Given the description of an element on the screen output the (x, y) to click on. 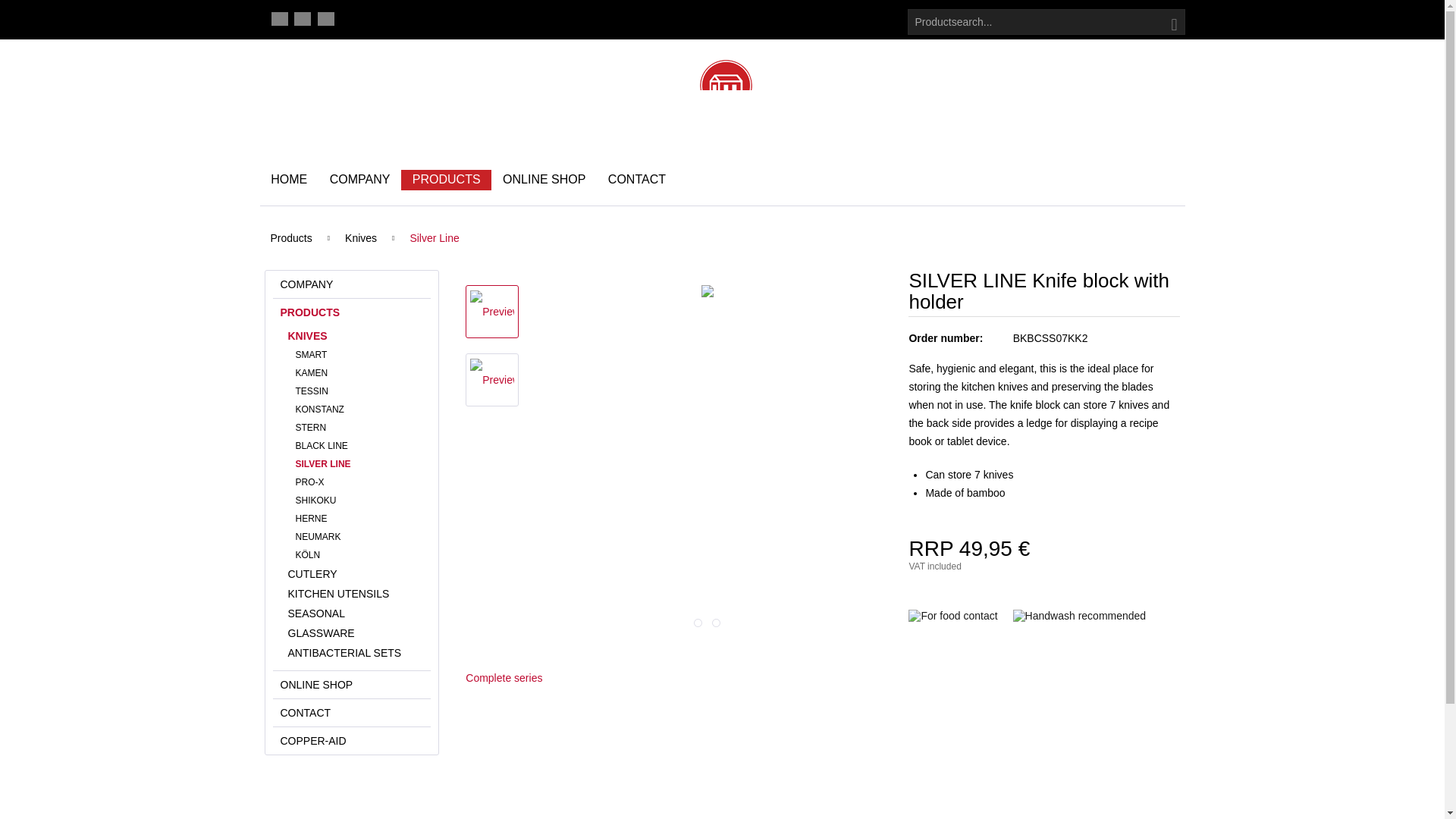
PRODUCTS (446, 179)
PRODUCTS (351, 311)
english (302, 18)
SHIKOKU (359, 500)
HOME (288, 179)
KAMEN (359, 372)
KONSTANZ (359, 409)
TESSIN (359, 391)
Black Line (359, 445)
Stern (359, 427)
Products (290, 237)
ANTIBACTERIAL SETS (355, 652)
Smart (359, 354)
HERNE (359, 518)
STERN (359, 427)
